Given the description of an element on the screen output the (x, y) to click on. 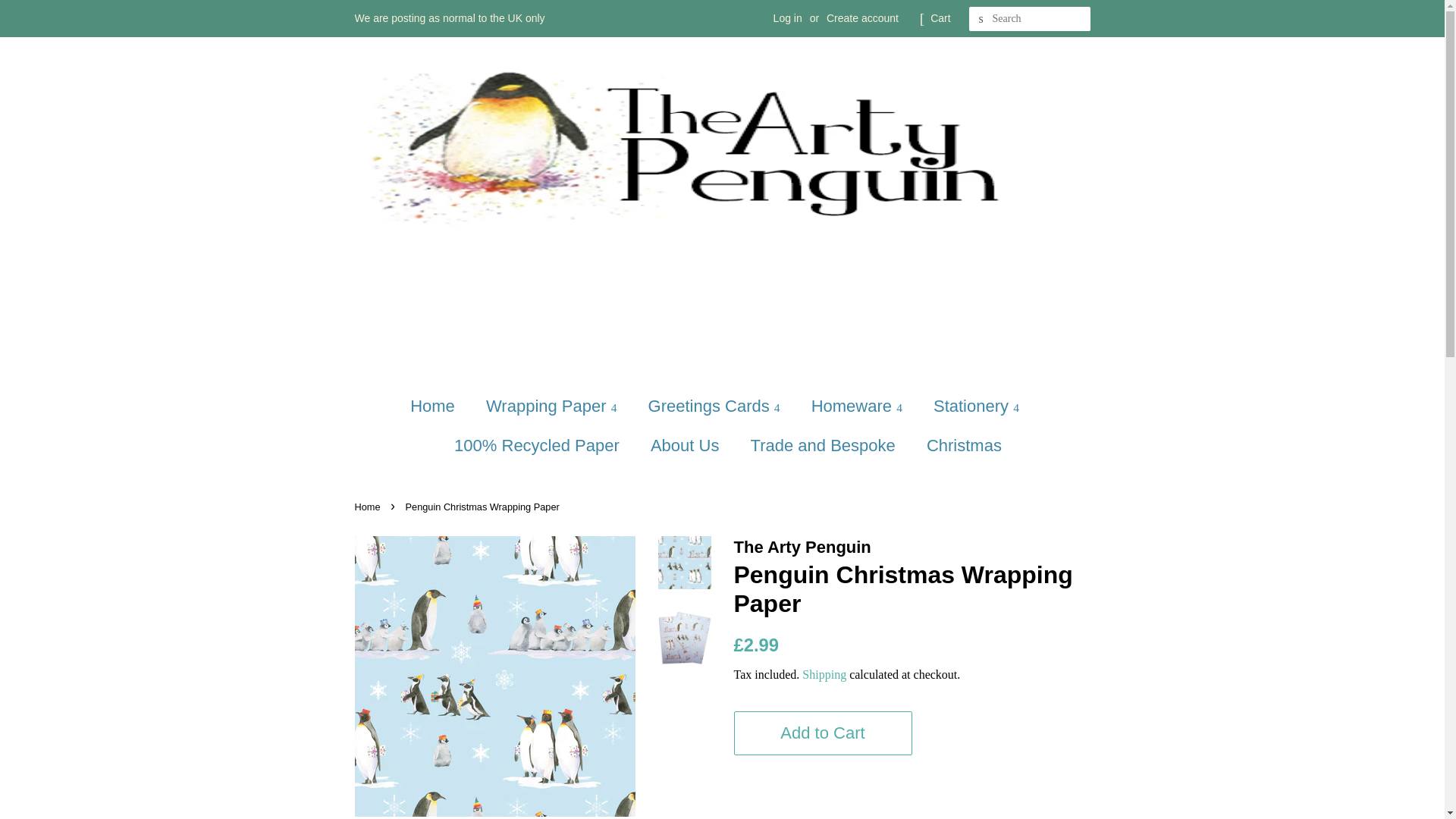
Back to the frontpage (369, 506)
Create account (862, 18)
Search (980, 18)
Log in (787, 18)
Cart (940, 18)
